Given the description of an element on the screen output the (x, y) to click on. 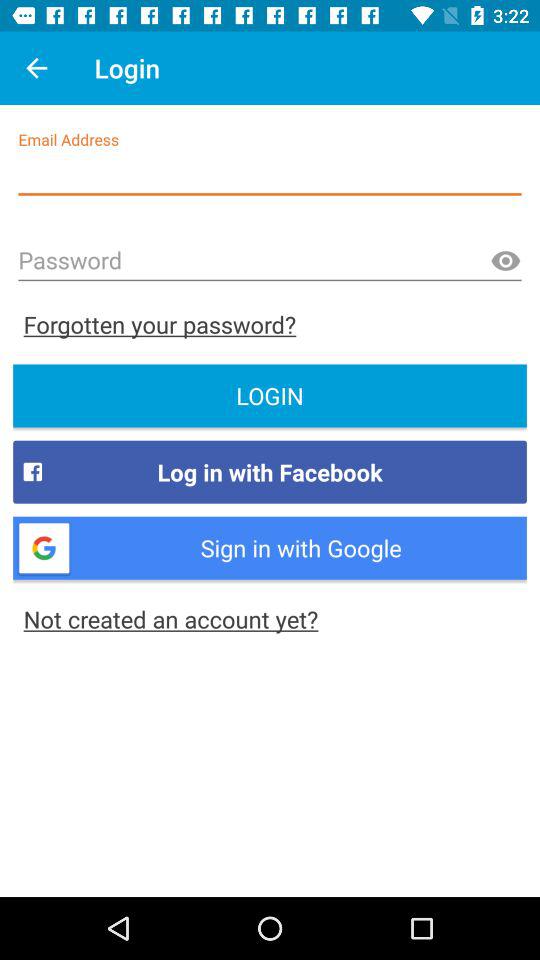
password textbox (269, 261)
